Given the description of an element on the screen output the (x, y) to click on. 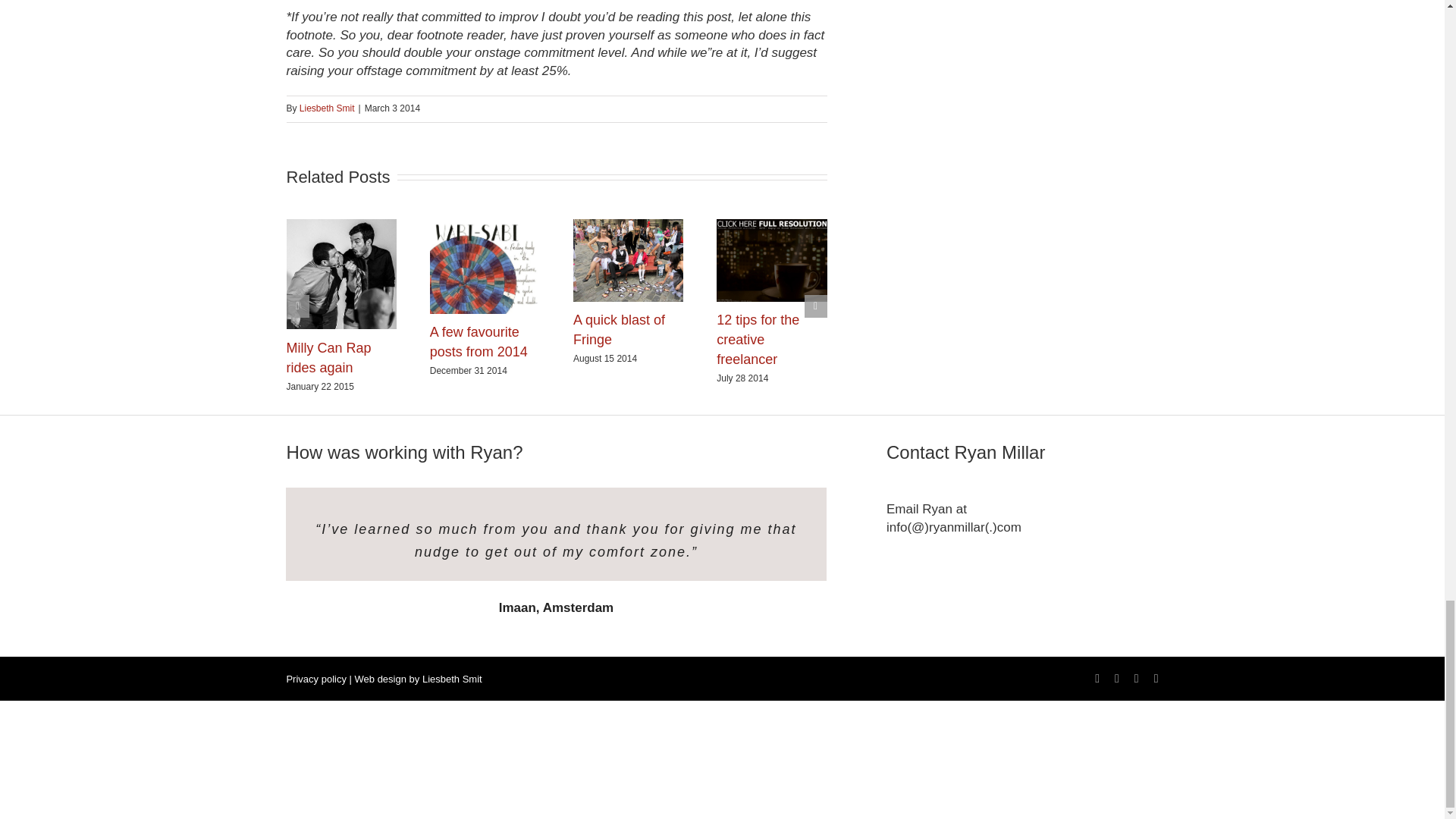
12 tips for the creative freelancer (757, 339)
A quick blast of Fringe (619, 329)
Liesbeth Smit (327, 108)
Liesbeth Smit - Making Science Sexy (451, 678)
Milly Can Rap rides again (328, 357)
A quick blast of Fringe (619, 329)
A few favourite posts from 2014 (478, 341)
12 tips for the creative freelancer (757, 339)
A few favourite posts from 2014 (478, 341)
Posts by Liesbeth Smit (327, 108)
Milly Can Rap rides again (328, 357)
